Given the description of an element on the screen output the (x, y) to click on. 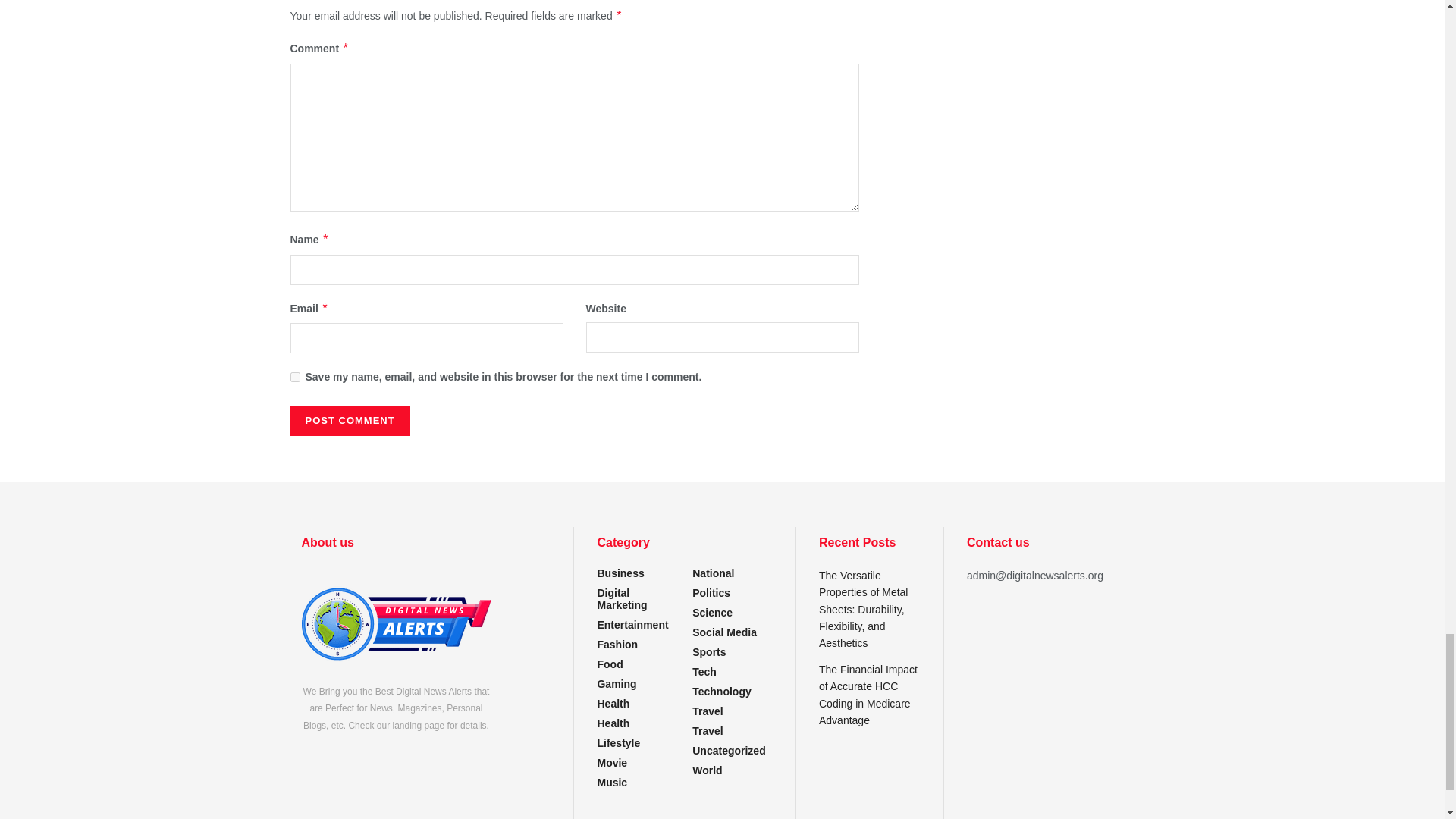
Post Comment (349, 420)
yes (294, 377)
About us (396, 623)
